Given the description of an element on the screen output the (x, y) to click on. 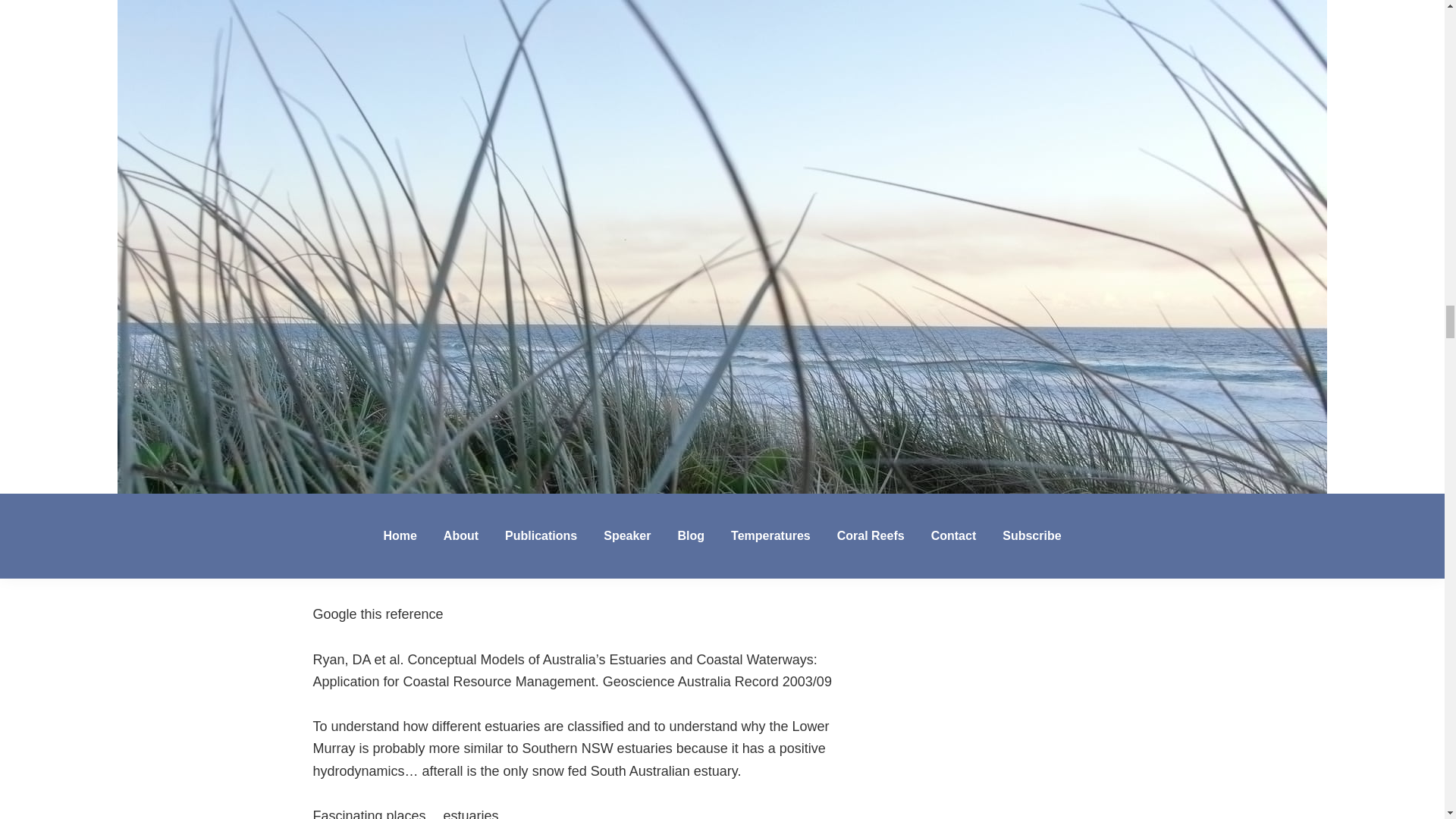
April 14, 2012 at 8:30 pm (445, 195)
April 14, 2012 at 8:32 pm (445, 381)
